Given the description of an element on the screen output the (x, y) to click on. 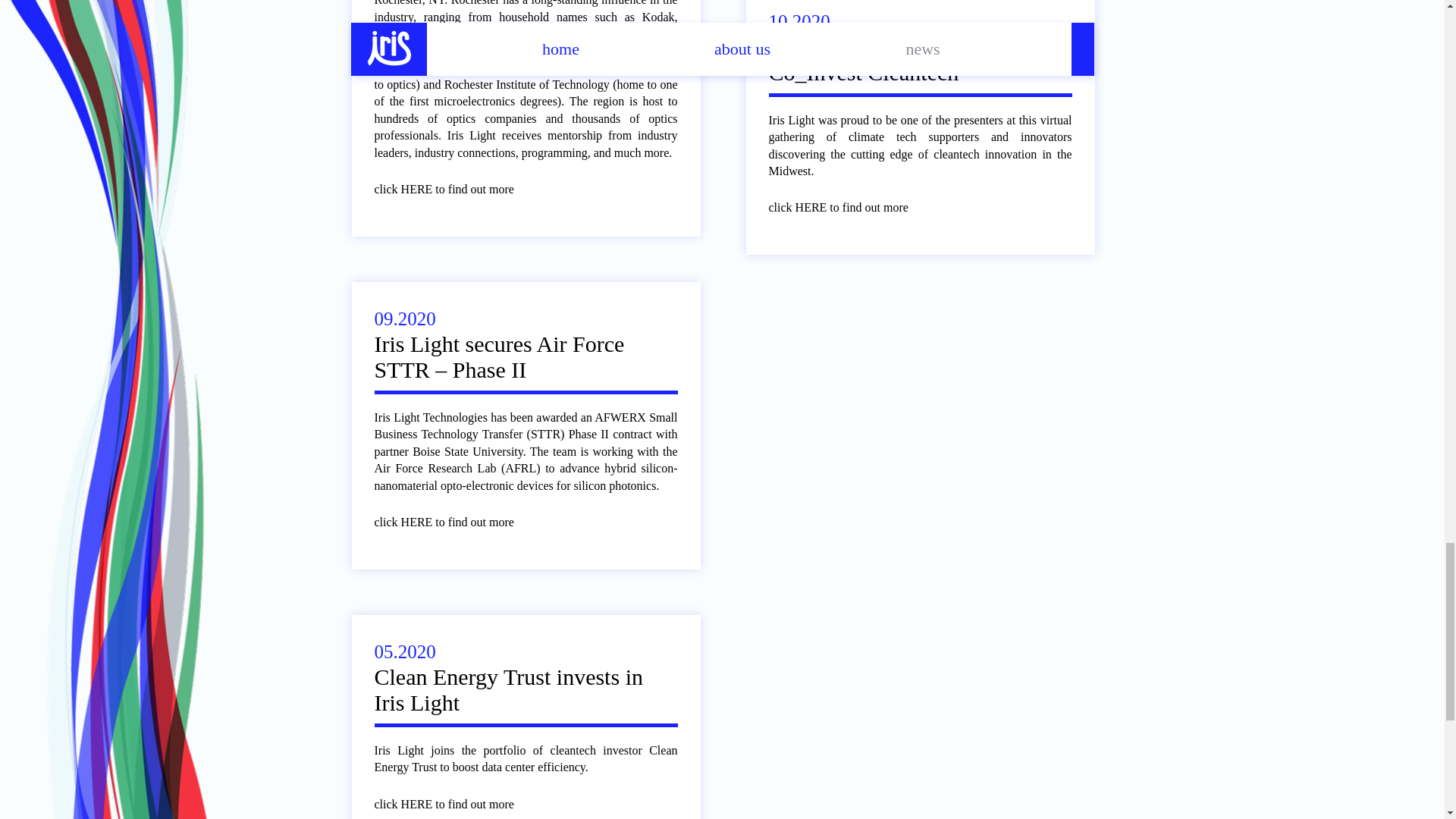
click HERE to find out more (455, 522)
click HERE to find out more (455, 189)
click HERE to find out more (849, 207)
click HERE to find out more (455, 804)
